Given the description of an element on the screen output the (x, y) to click on. 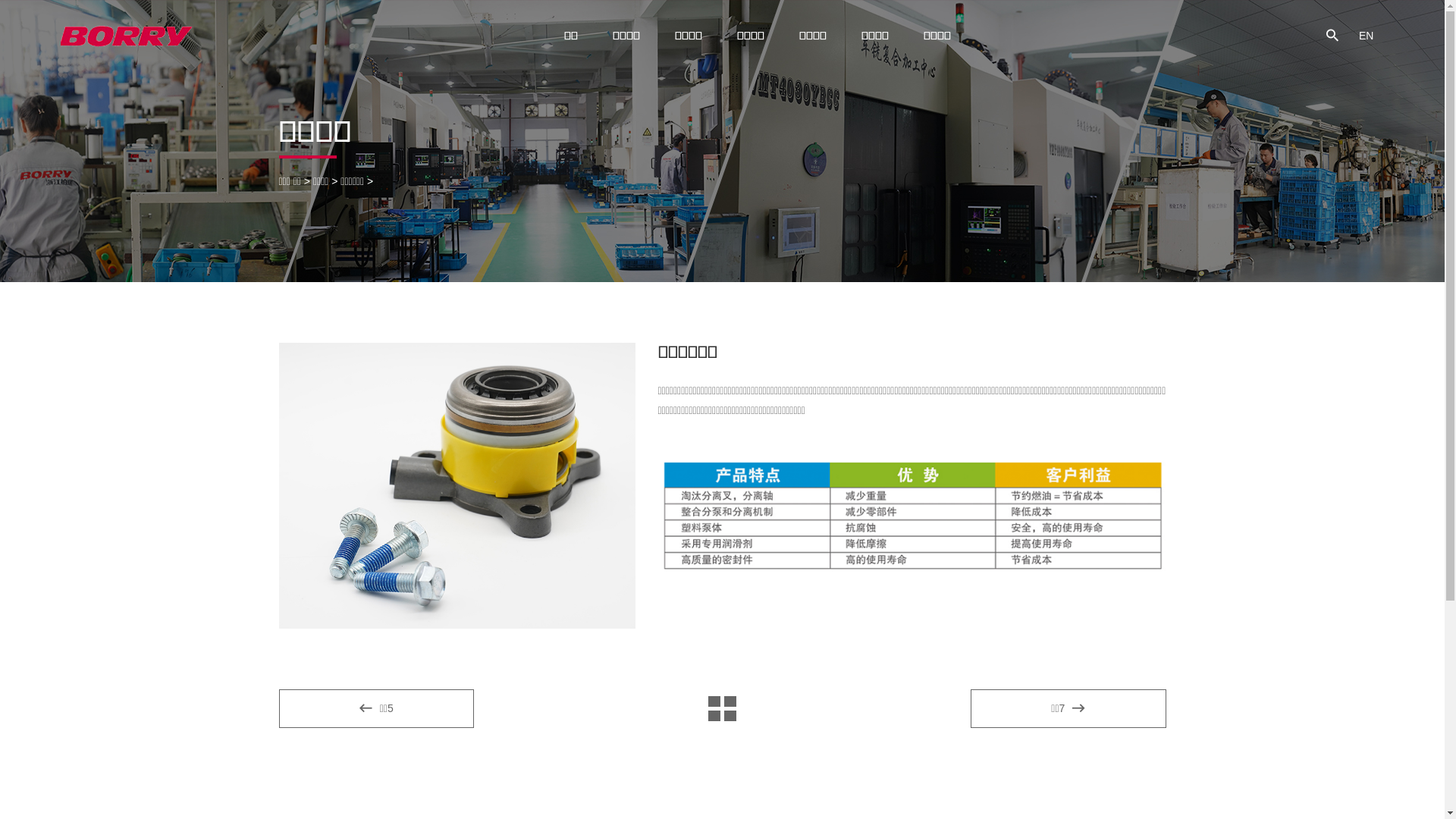
EN Element type: text (1365, 35)
